Given the description of an element on the screen output the (x, y) to click on. 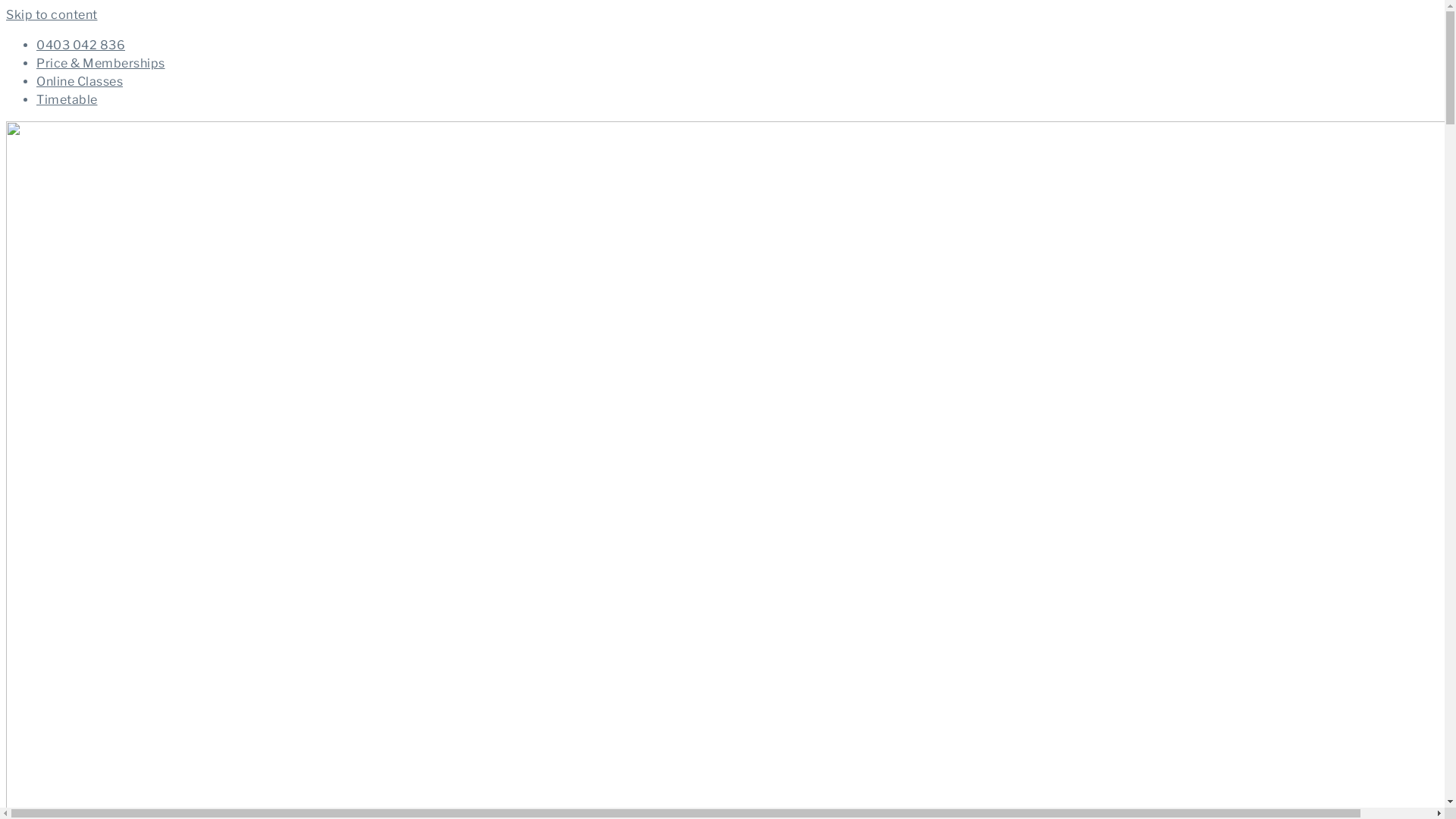
Price & Memberships Element type: text (100, 63)
Online Classes Element type: text (79, 81)
Skip to content Element type: text (51, 14)
Timetable Element type: text (66, 99)
0403 042 836 Element type: text (80, 44)
